Given the description of an element on the screen output the (x, y) to click on. 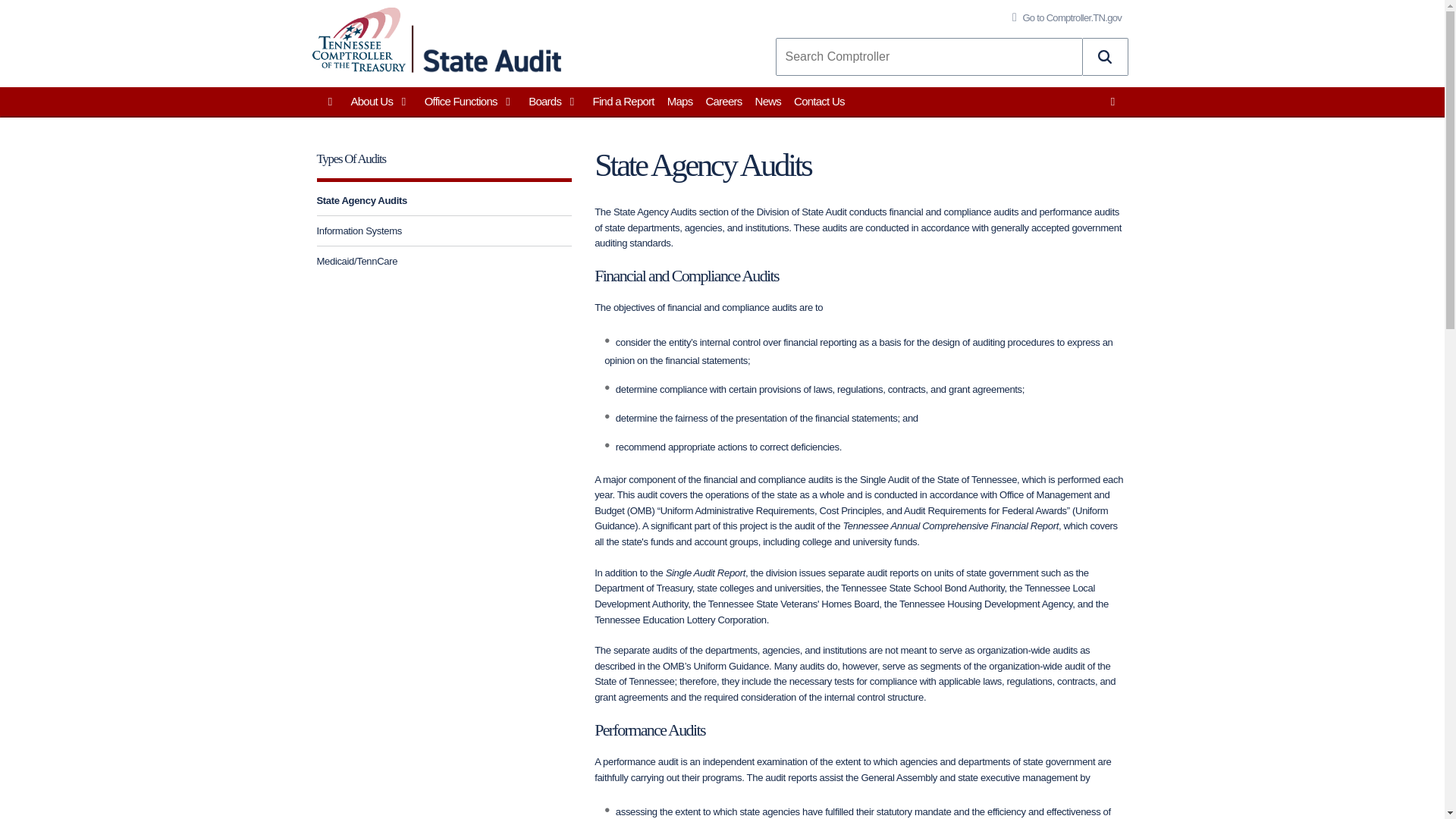
About Us (382, 101)
Home (358, 39)
Insert a query. Press enter to send (928, 56)
Contact Us (820, 101)
News (769, 101)
Office Functions (471, 101)
Go to Comptroller.TN.gov (1063, 18)
Boards (554, 101)
Maps (681, 101)
Careers (724, 101)
